Given the description of an element on the screen output the (x, y) to click on. 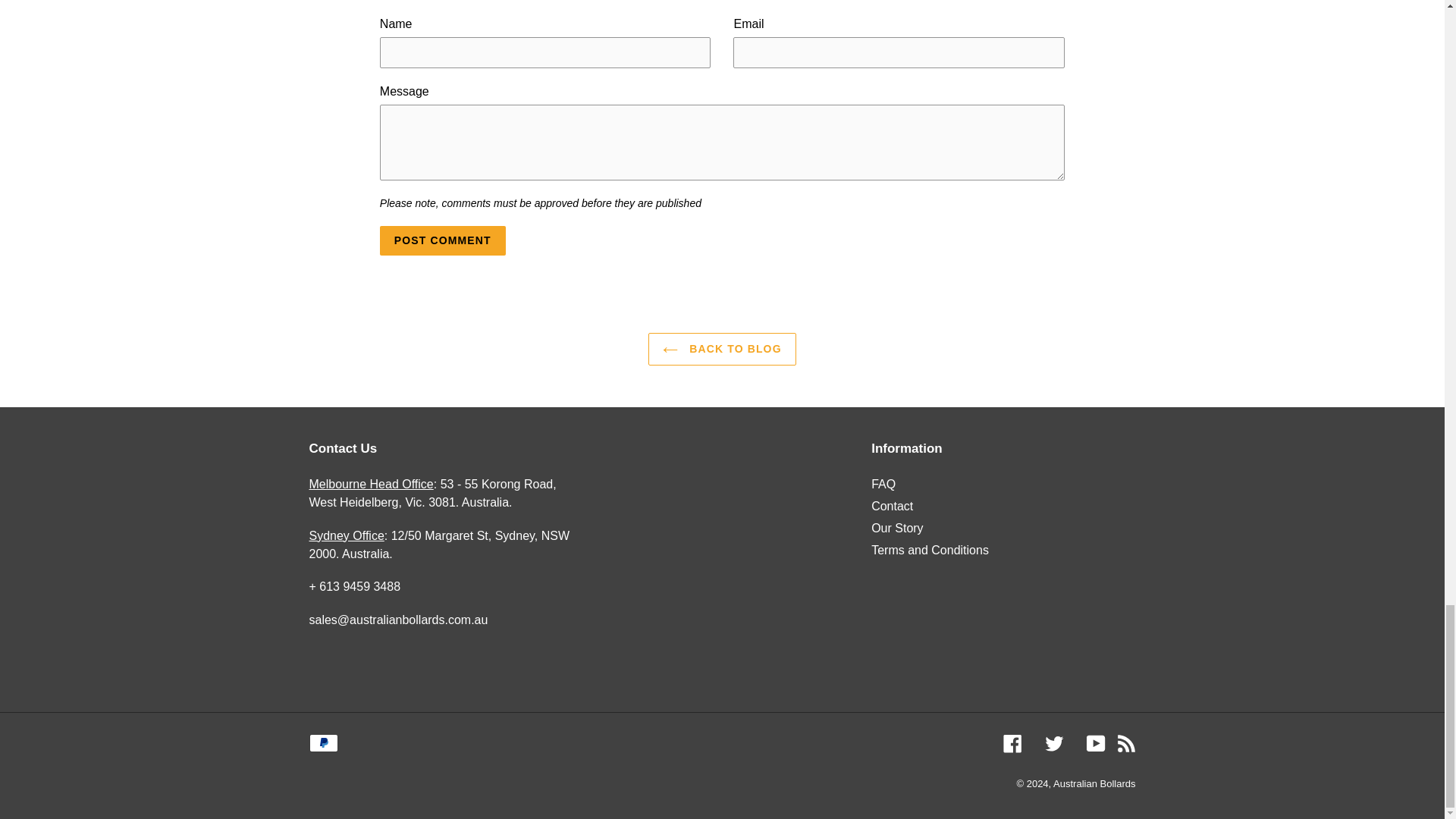
FAQ (882, 483)
BACK TO BLOG (720, 348)
Facebook (1012, 742)
Contact (891, 505)
Post comment (442, 240)
Terms and Conditions (929, 549)
Post comment (442, 240)
Our Story (896, 527)
